Given the description of an element on the screen output the (x, y) to click on. 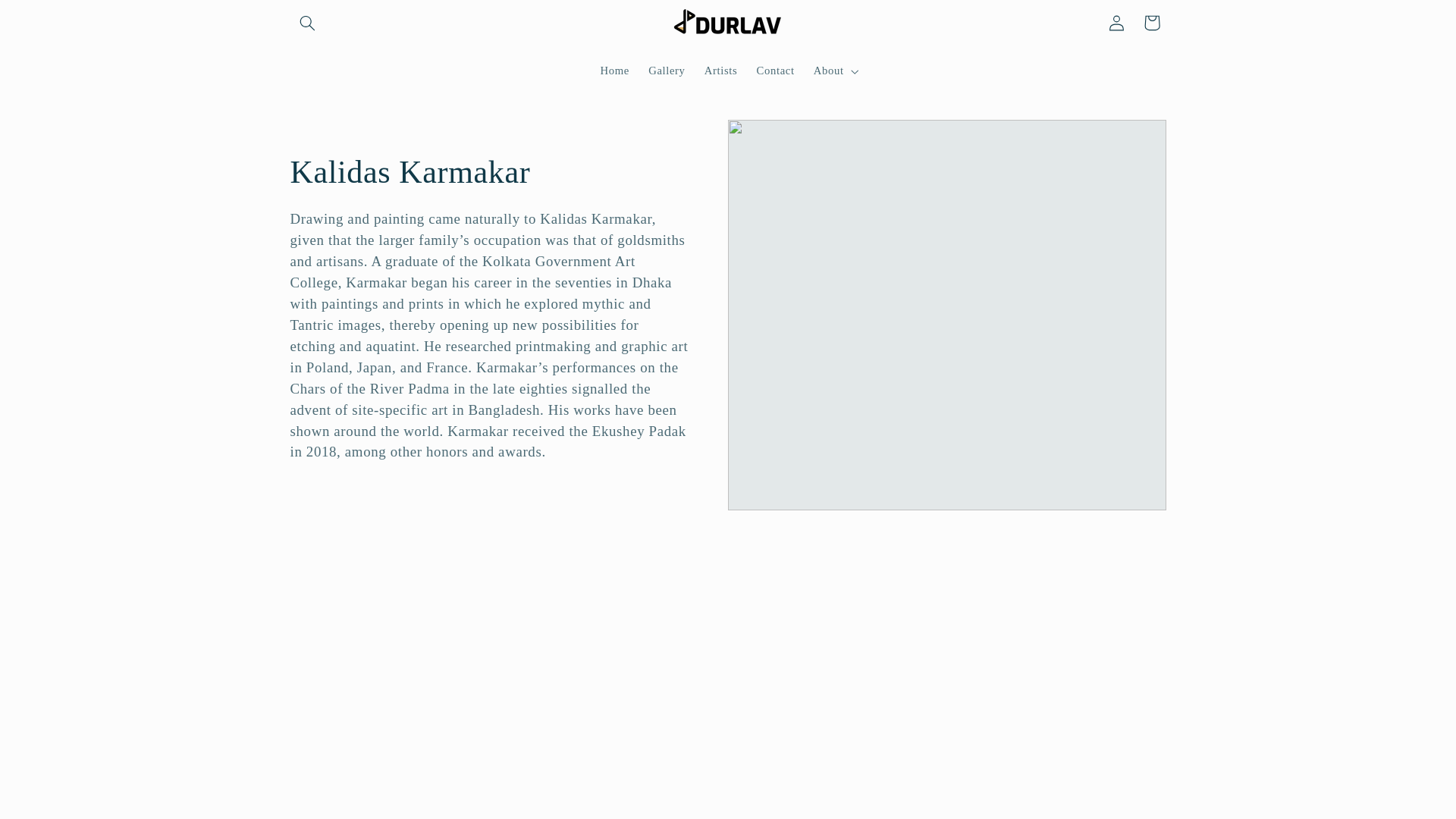
Gallery (667, 70)
Home (615, 70)
Log in (1116, 22)
Artists (720, 70)
Skip to content (48, 18)
Contact (774, 70)
Cart (1151, 22)
